Given the description of an element on the screen output the (x, y) to click on. 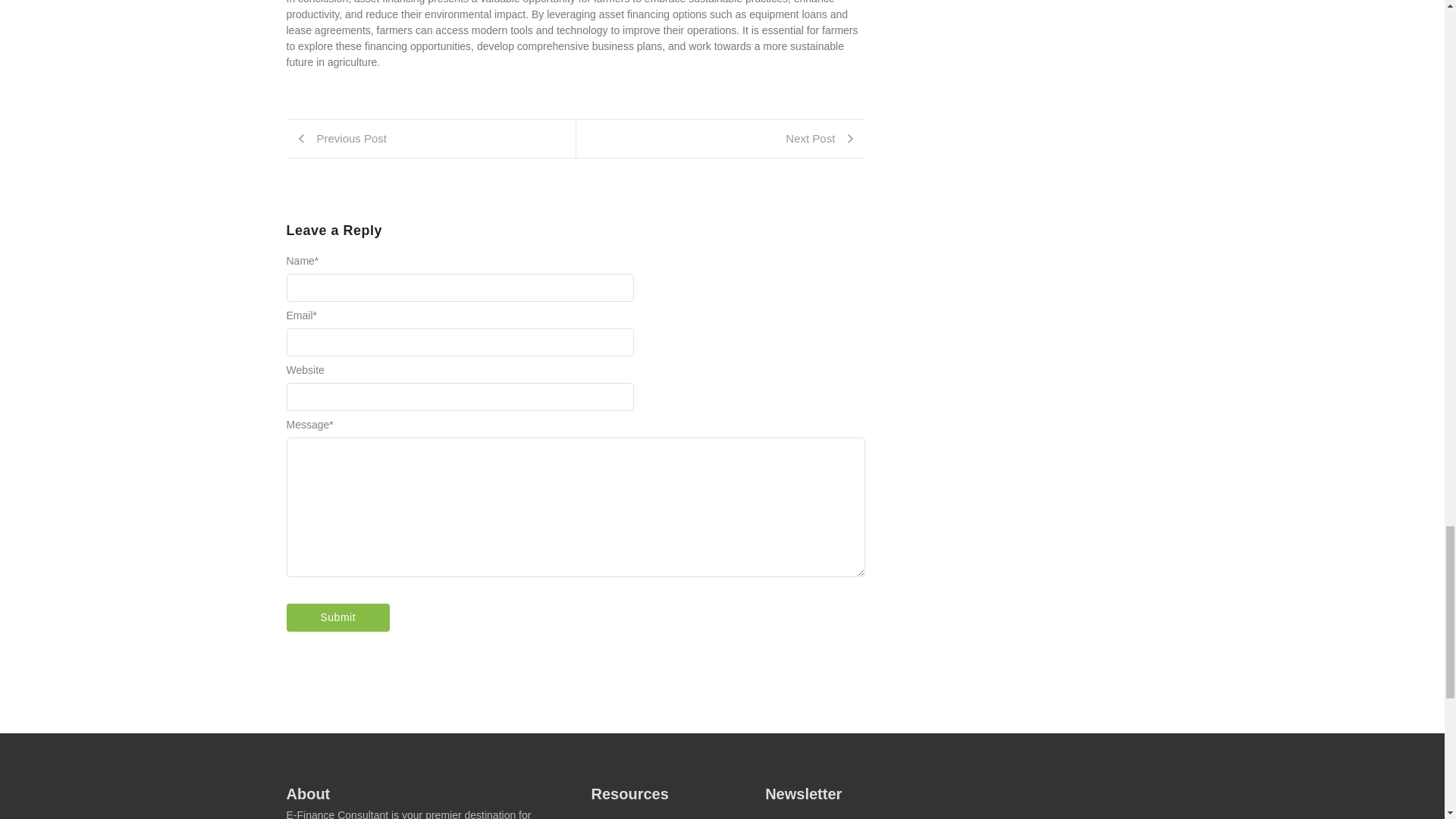
Submit (338, 617)
